Given the description of an element on the screen output the (x, y) to click on. 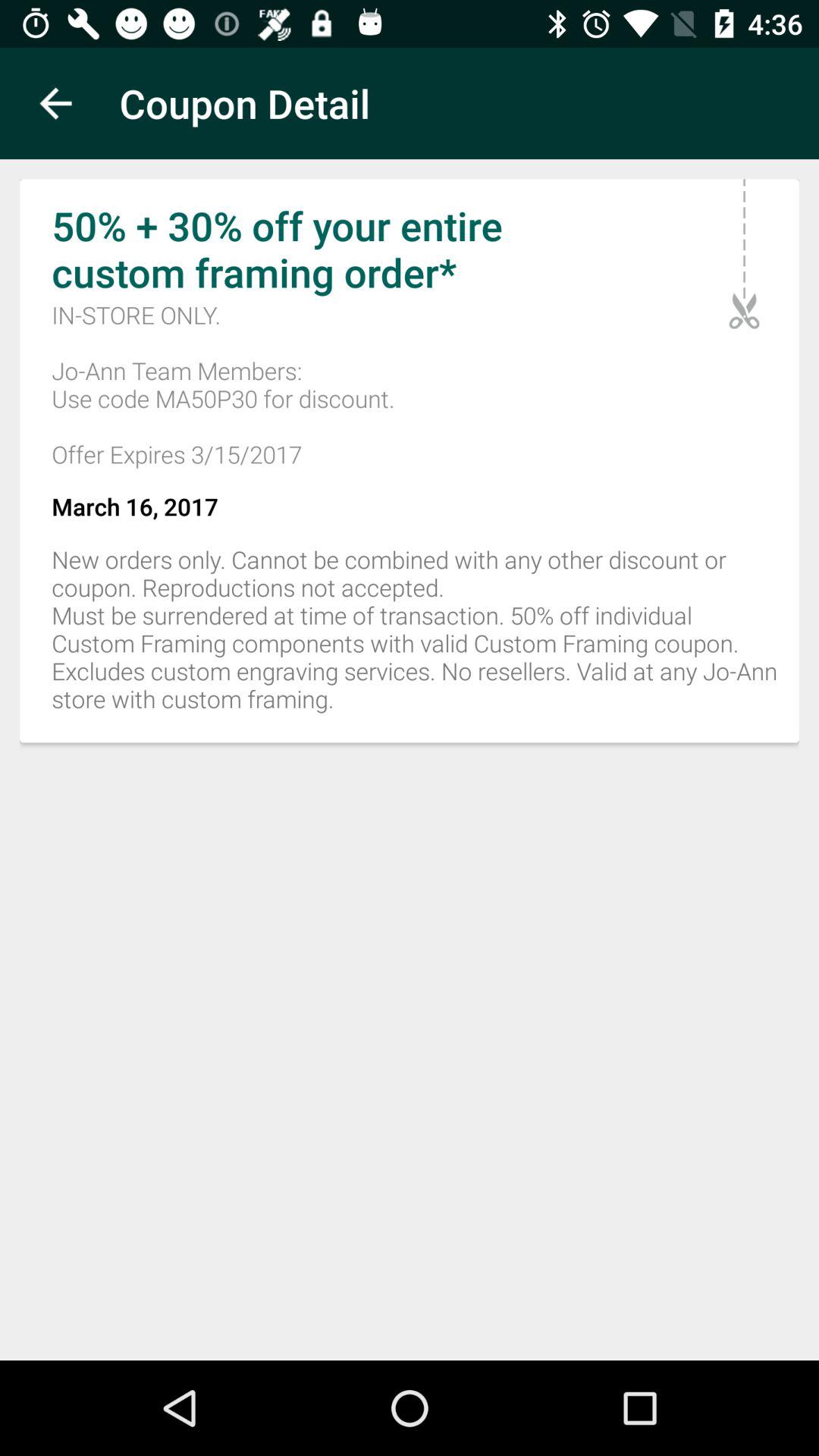
select new orders only (409, 637)
